Given the description of an element on the screen output the (x, y) to click on. 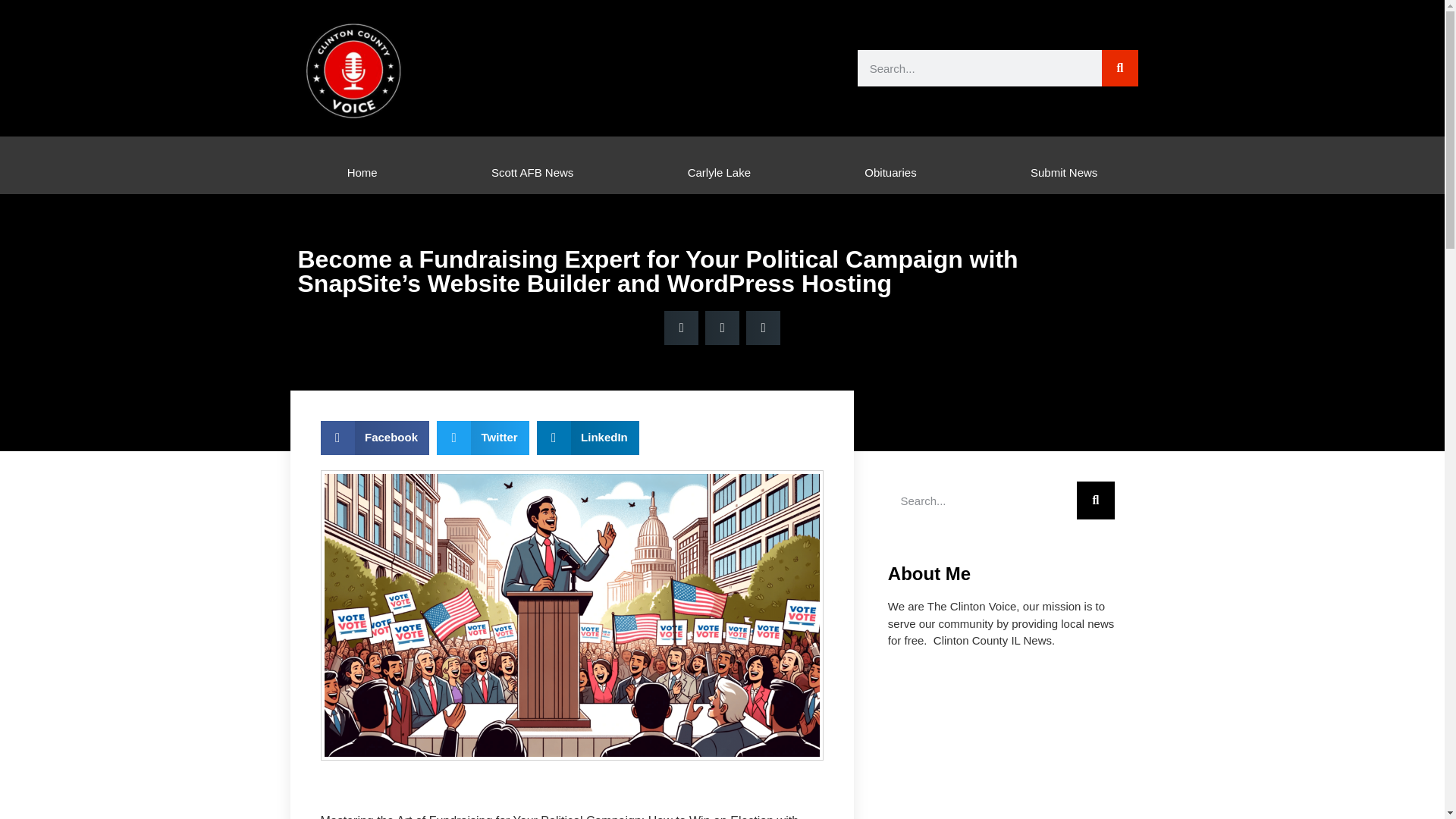
Obituaries (891, 172)
Carlyle Lake (719, 172)
Home (361, 172)
Submit News (1064, 172)
Scott AFB News (531, 172)
